Given the description of an element on the screen output the (x, y) to click on. 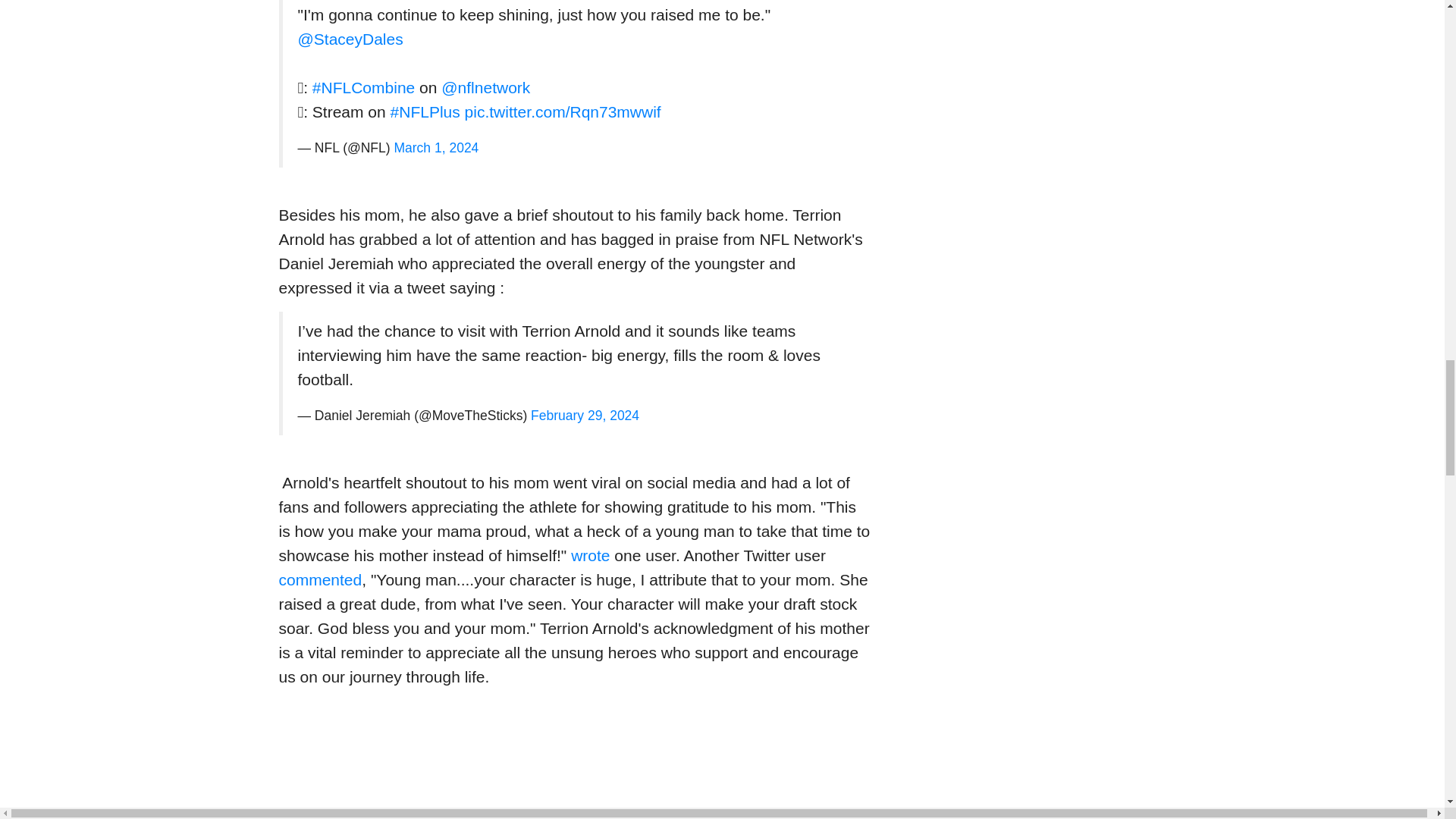
February 29, 2024 (585, 415)
wrote (590, 555)
March 1, 2024 (436, 147)
commented (320, 579)
